Given the description of an element on the screen output the (x, y) to click on. 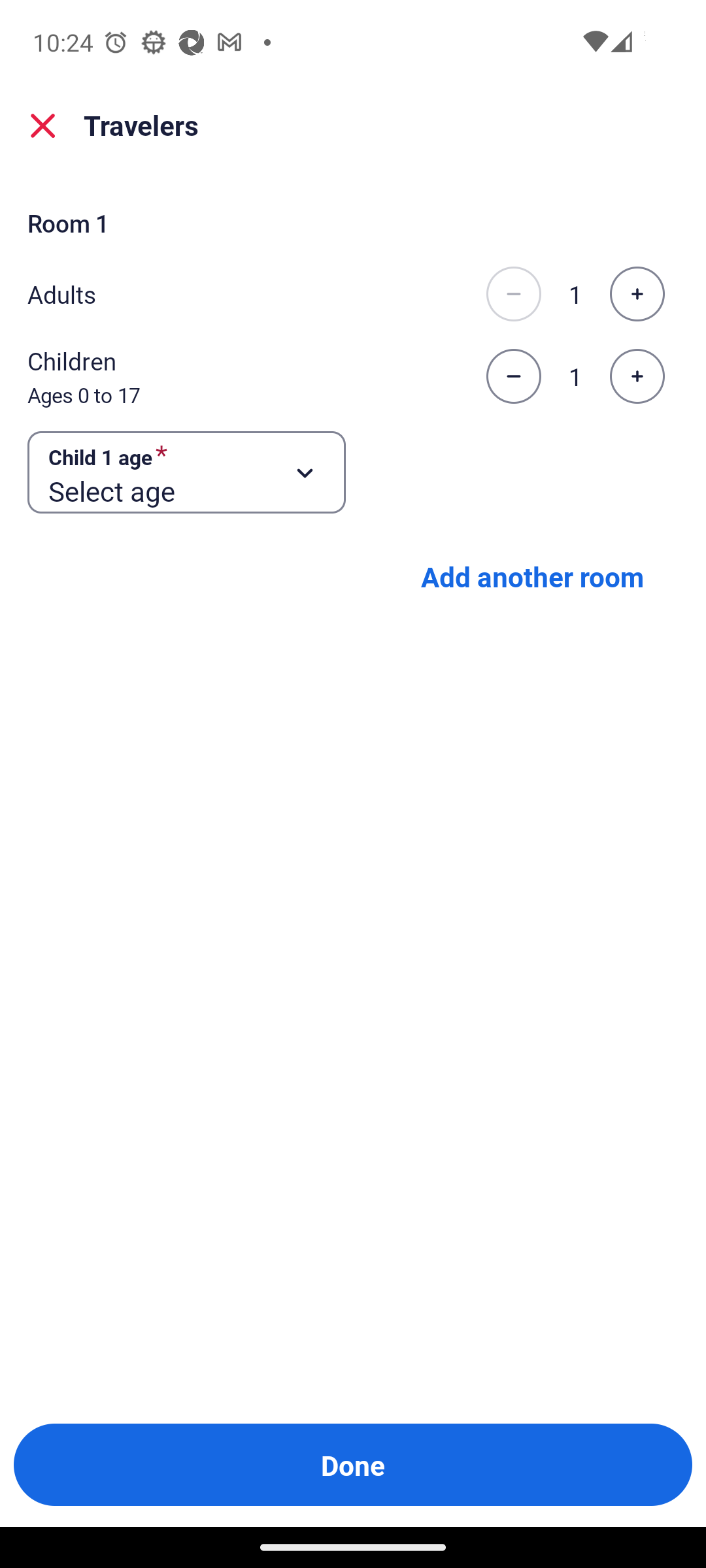
close (43, 125)
Decrease the number of adults (513, 293)
Increase the number of adults (636, 293)
Decrease the number of children (513, 376)
Increase the number of children (636, 376)
Child 1 age required Button Select age (186, 472)
Add another room (531, 576)
Done (352, 1464)
